Given the description of an element on the screen output the (x, y) to click on. 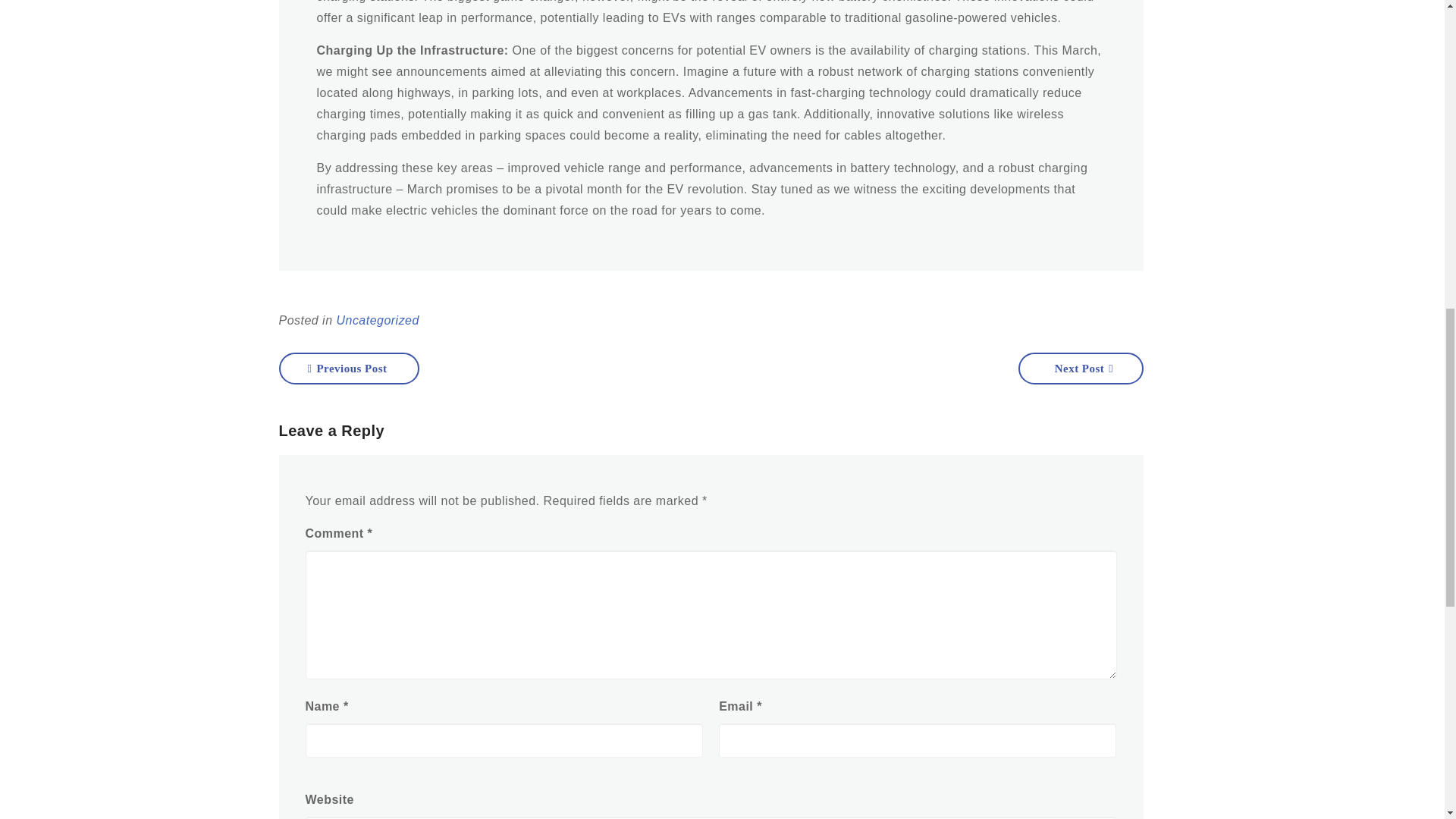
Previous Post (349, 368)
Uncategorized (377, 319)
Next Post (1079, 368)
